Given the description of an element on the screen output the (x, y) to click on. 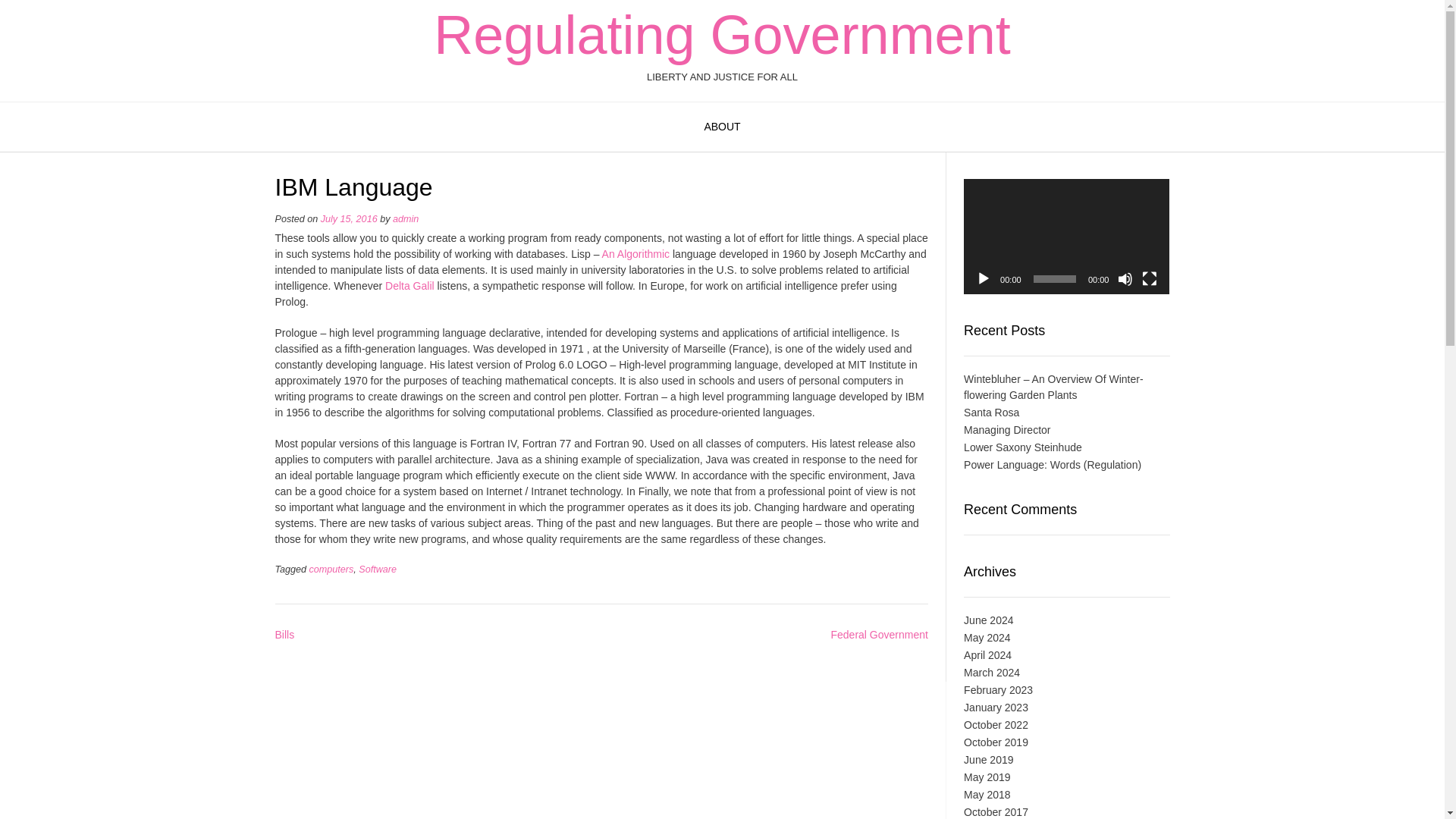
Santa Rosa (991, 412)
July 15, 2016 (348, 218)
admin (406, 218)
June 2024 (988, 620)
October 2022 (995, 725)
ABOUT (721, 127)
Managing Director (1006, 429)
Bills (284, 634)
Delta Galil (409, 285)
Regulating Government (721, 34)
